Given the description of an element on the screen output the (x, y) to click on. 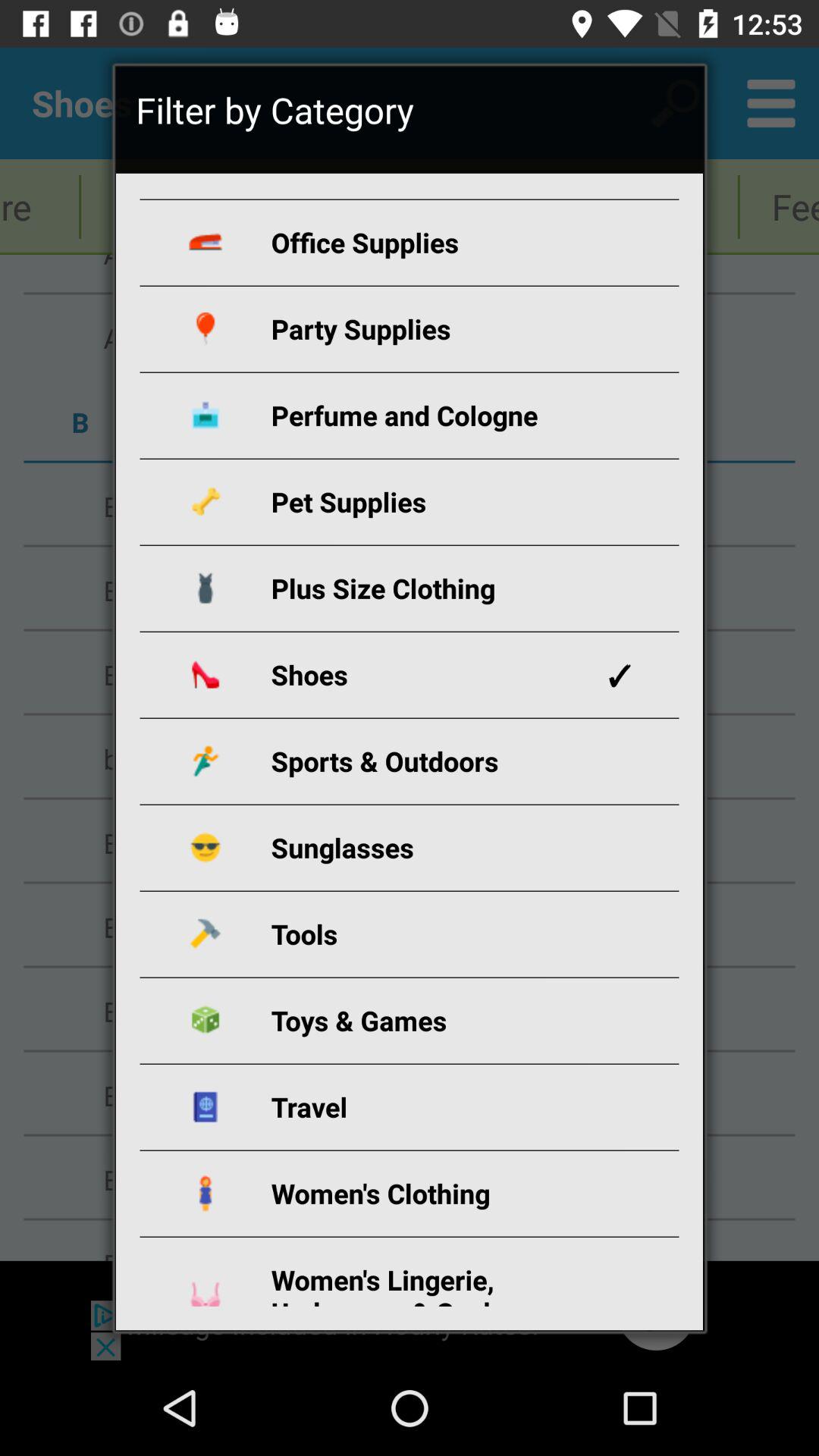
turn on plus size clothing (427, 587)
